Given the description of an element on the screen output the (x, y) to click on. 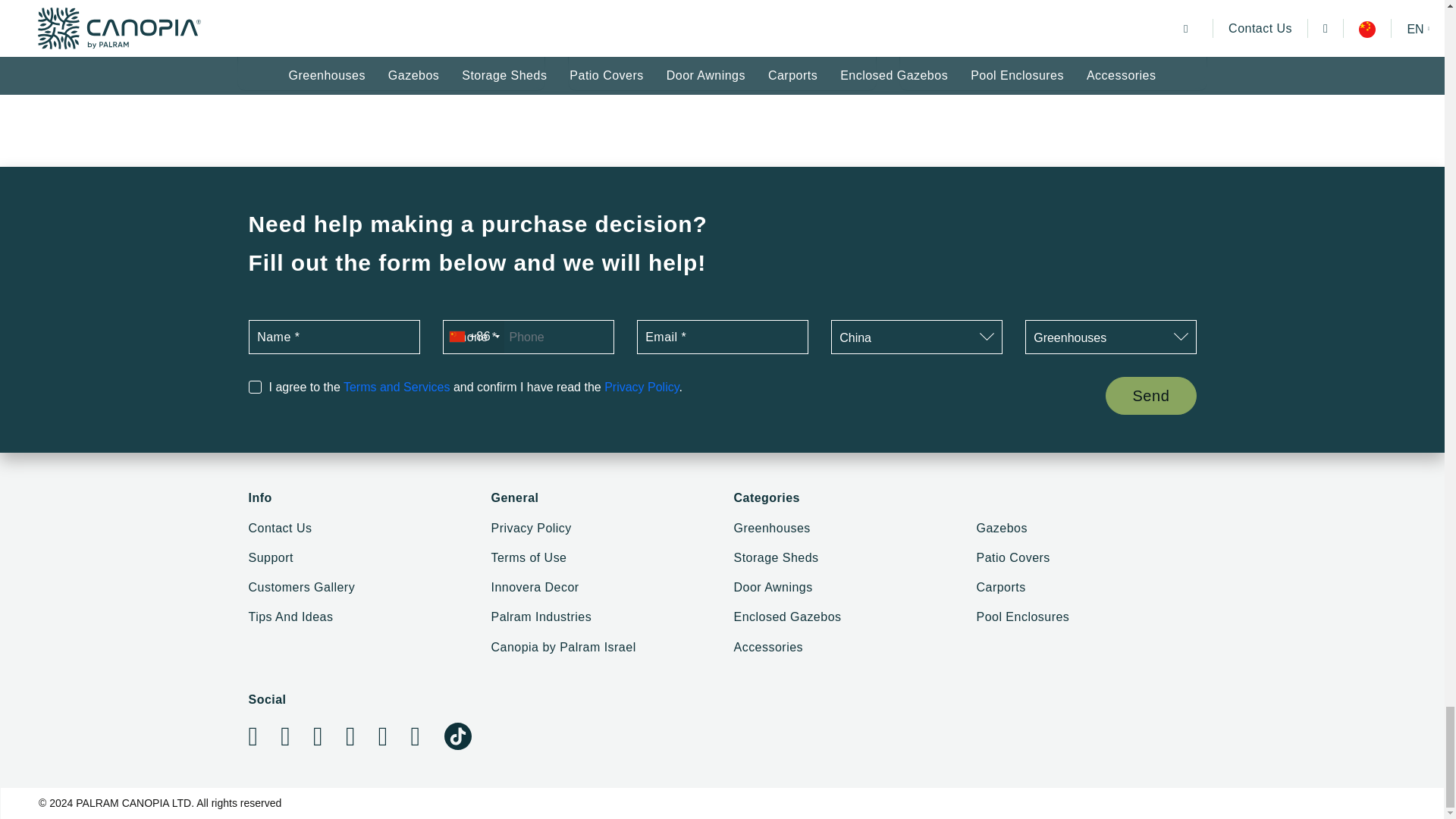
China (916, 337)
Greenhouses (1110, 337)
